Given the description of an element on the screen output the (x, y) to click on. 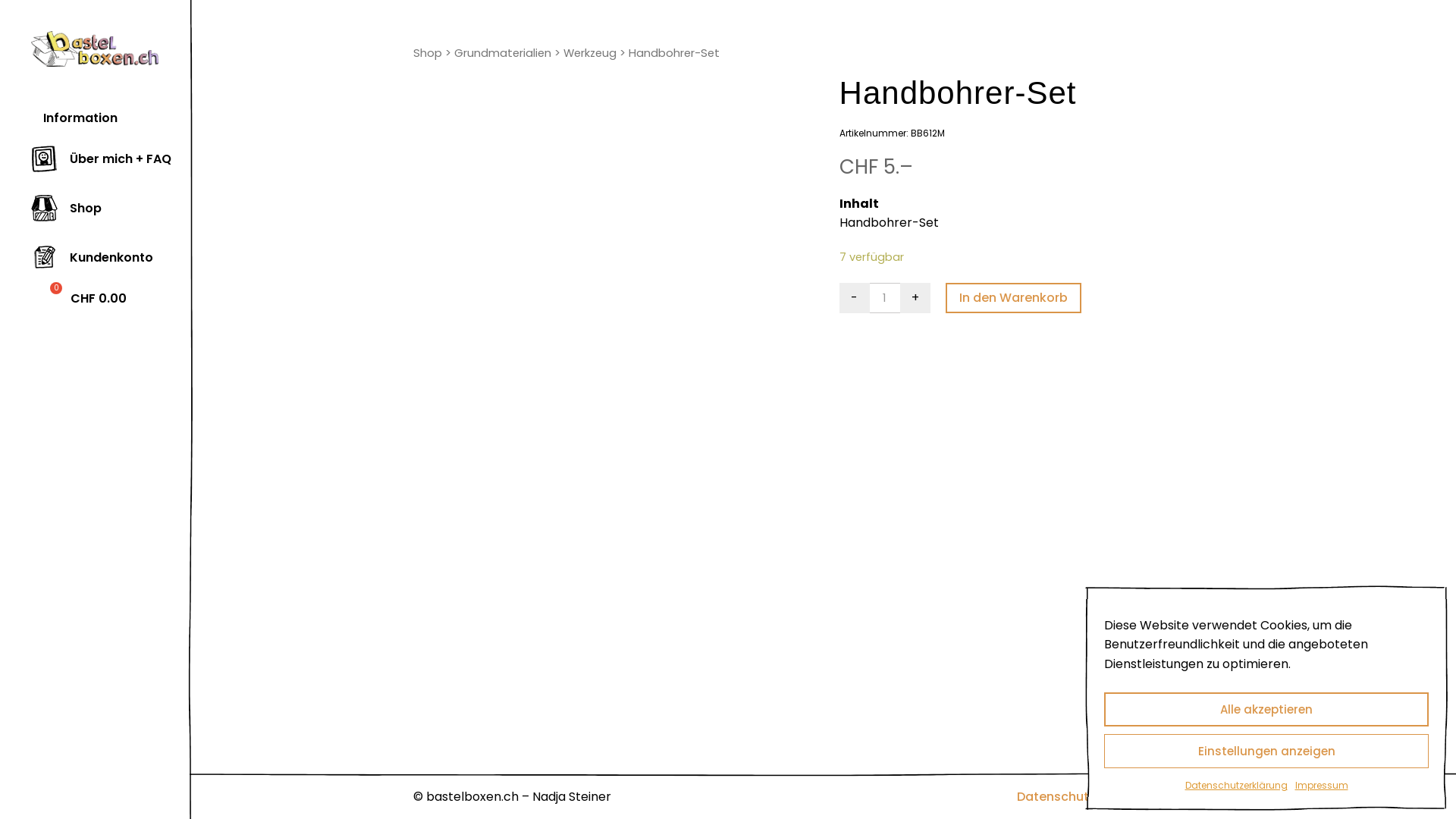
Shop Element type: text (427, 52)
+ Element type: text (915, 297)
- Element type: text (854, 297)
In den Warenkorb Element type: text (1013, 297)
Impressum Element type: text (1197, 796)
Impressum Element type: text (1321, 785)
Werkzeug Element type: text (589, 52)
CHF 0.00 Element type: text (78, 298)
Shop Element type: text (66, 208)
Information Element type: text (74, 118)
Alle akzeptieren Element type: text (1266, 709)
Einstellungen anzeigen Element type: text (1266, 751)
Qty Element type: hover (884, 297)
Grundmaterialien Element type: text (502, 52)
